Given the description of an element on the screen output the (x, y) to click on. 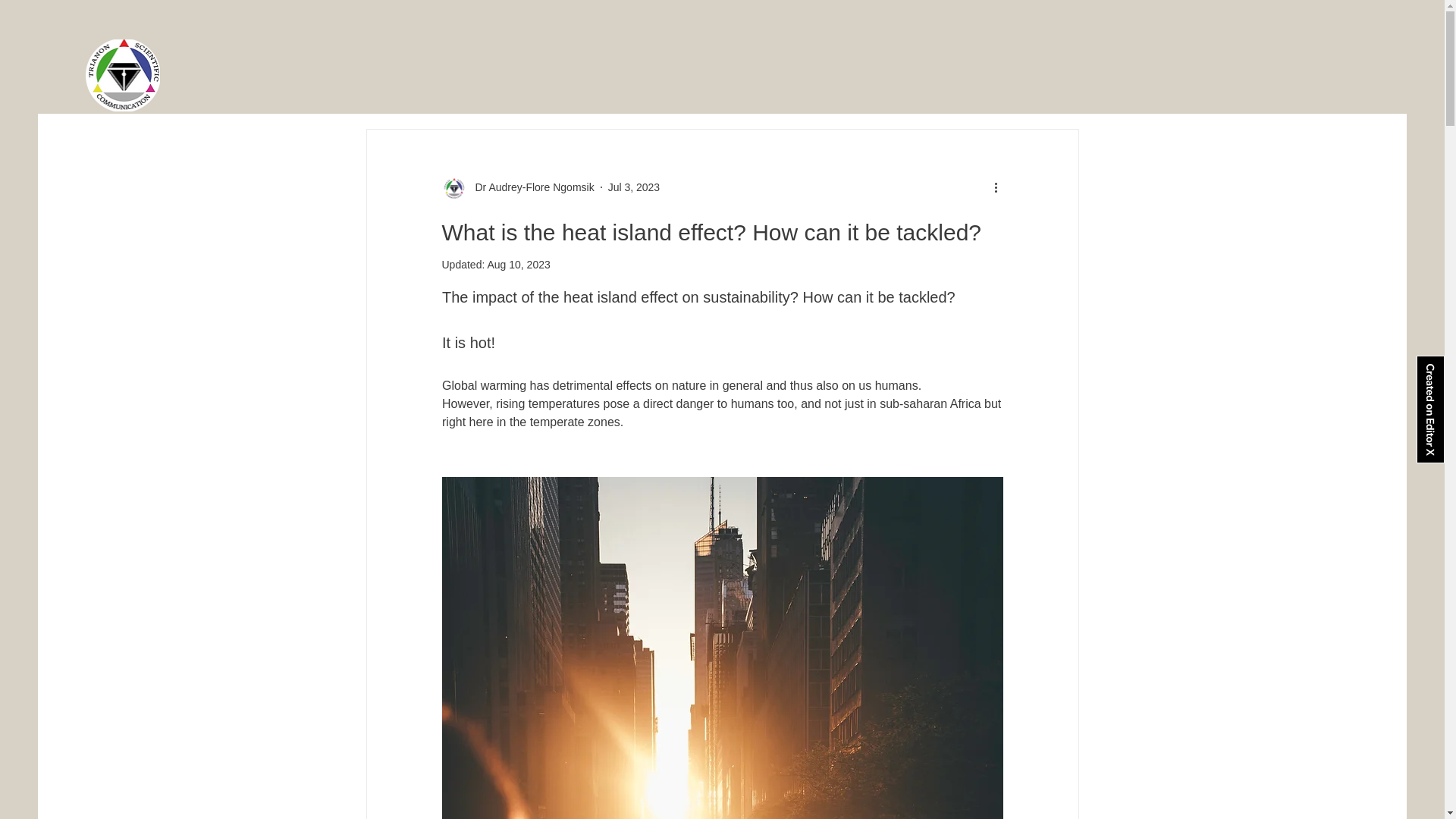
Aug 10, 2023 (518, 264)
Dr Audrey-Flore Ngomsik (529, 186)
Dr Audrey-Flore Ngomsik (517, 187)
Jul 3, 2023 (634, 186)
